Given the description of an element on the screen output the (x, y) to click on. 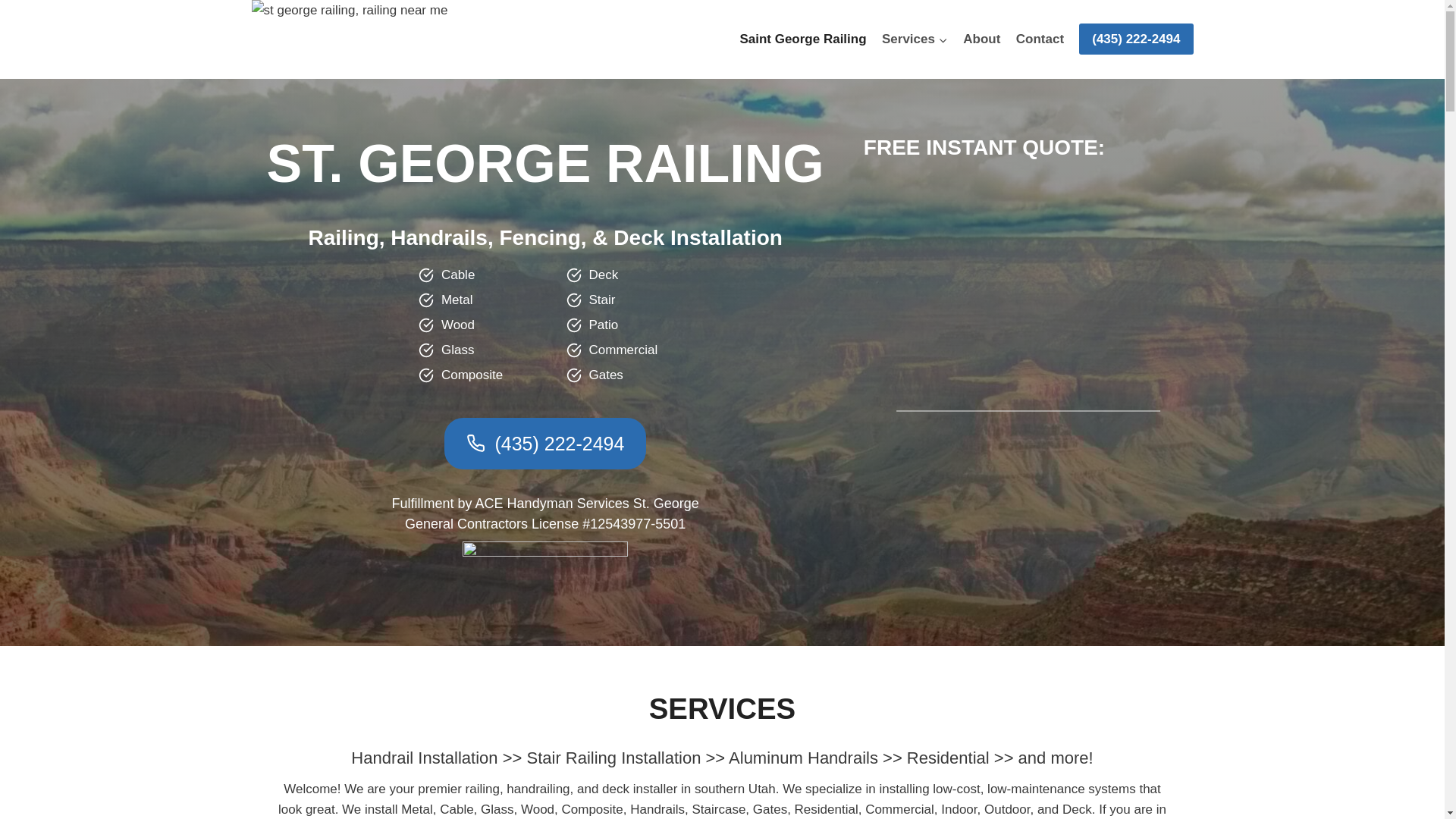
About (981, 39)
Contact (1040, 39)
Saint George Railing (803, 39)
Services (915, 39)
